Given the description of an element on the screen output the (x, y) to click on. 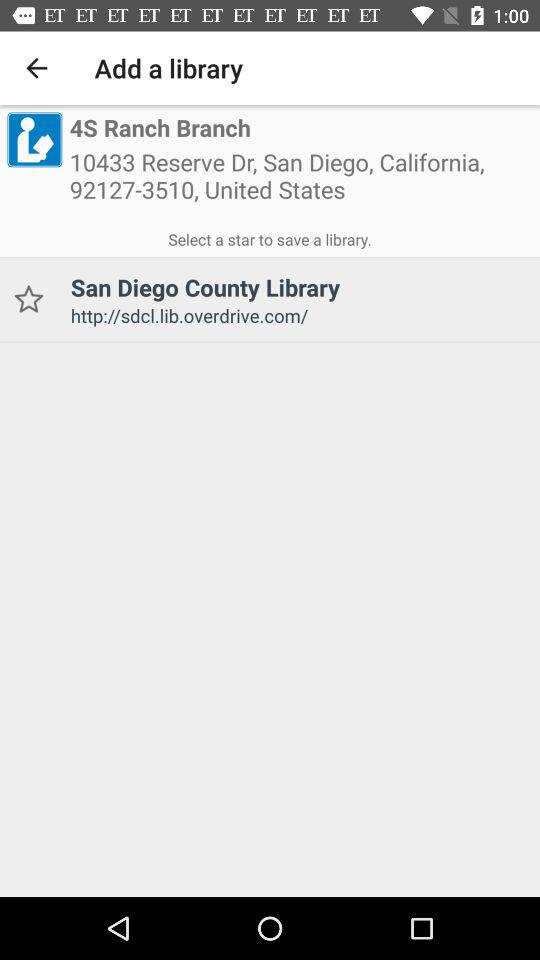
open icon to the left of add a library (36, 68)
